Given the description of an element on the screen output the (x, y) to click on. 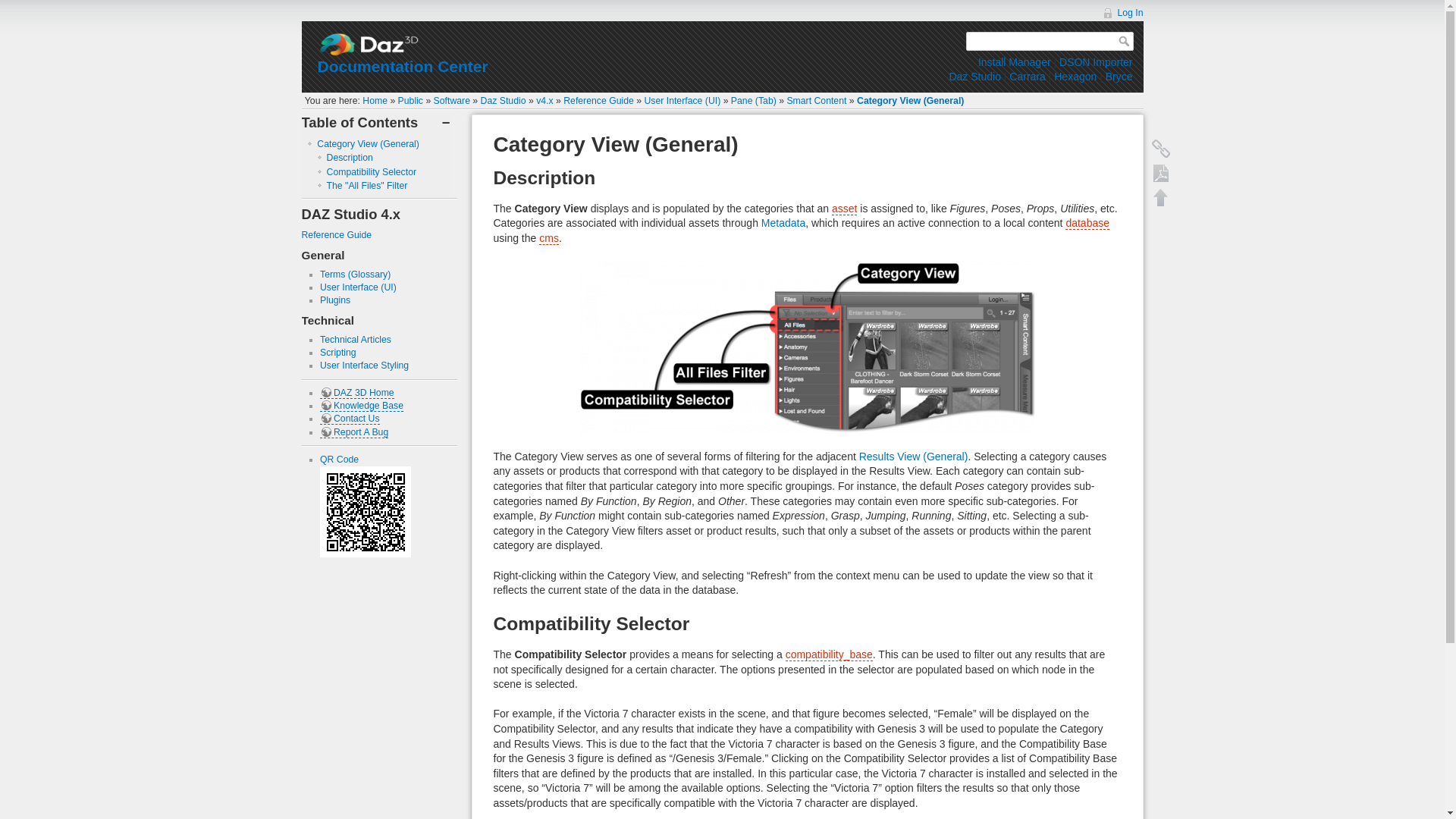
Log In (1122, 12)
Install Manager (1014, 61)
Daz Studio (974, 76)
Technical Articles (355, 339)
public:software:bryce:start (1118, 76)
Metadata (783, 223)
Daz Studio (502, 100)
Public (410, 100)
Smart Content (815, 100)
Plugins (335, 299)
Carrara (1027, 76)
Bryce (1118, 76)
Log In (1122, 12)
public:software:dazstudio:start (974, 76)
Reference Guide (598, 100)
